Given the description of an element on the screen output the (x, y) to click on. 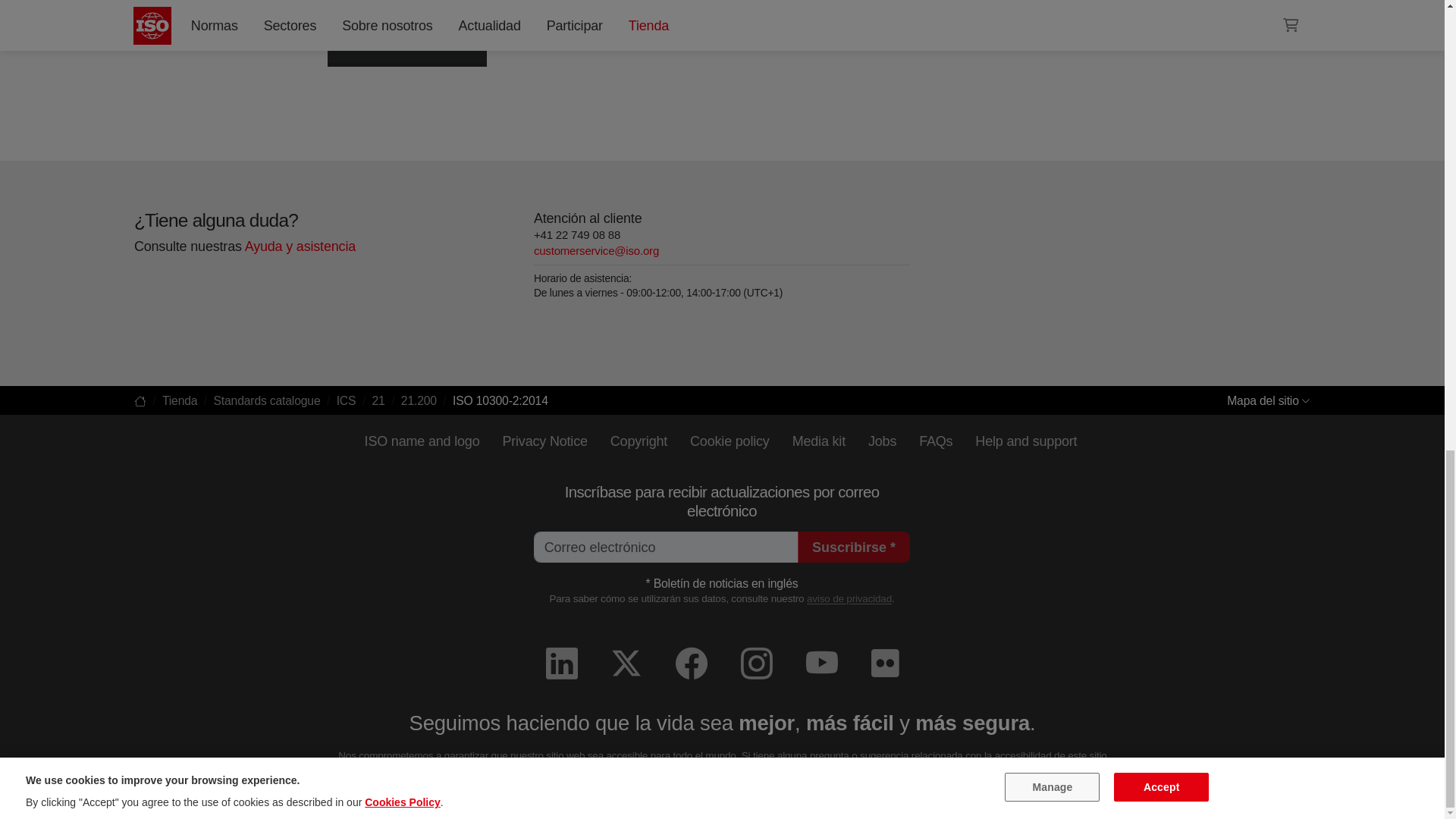
Etapa: 95.99 (377, 41)
ISO 10300-2:2001 (205, 17)
